Given the description of an element on the screen output the (x, y) to click on. 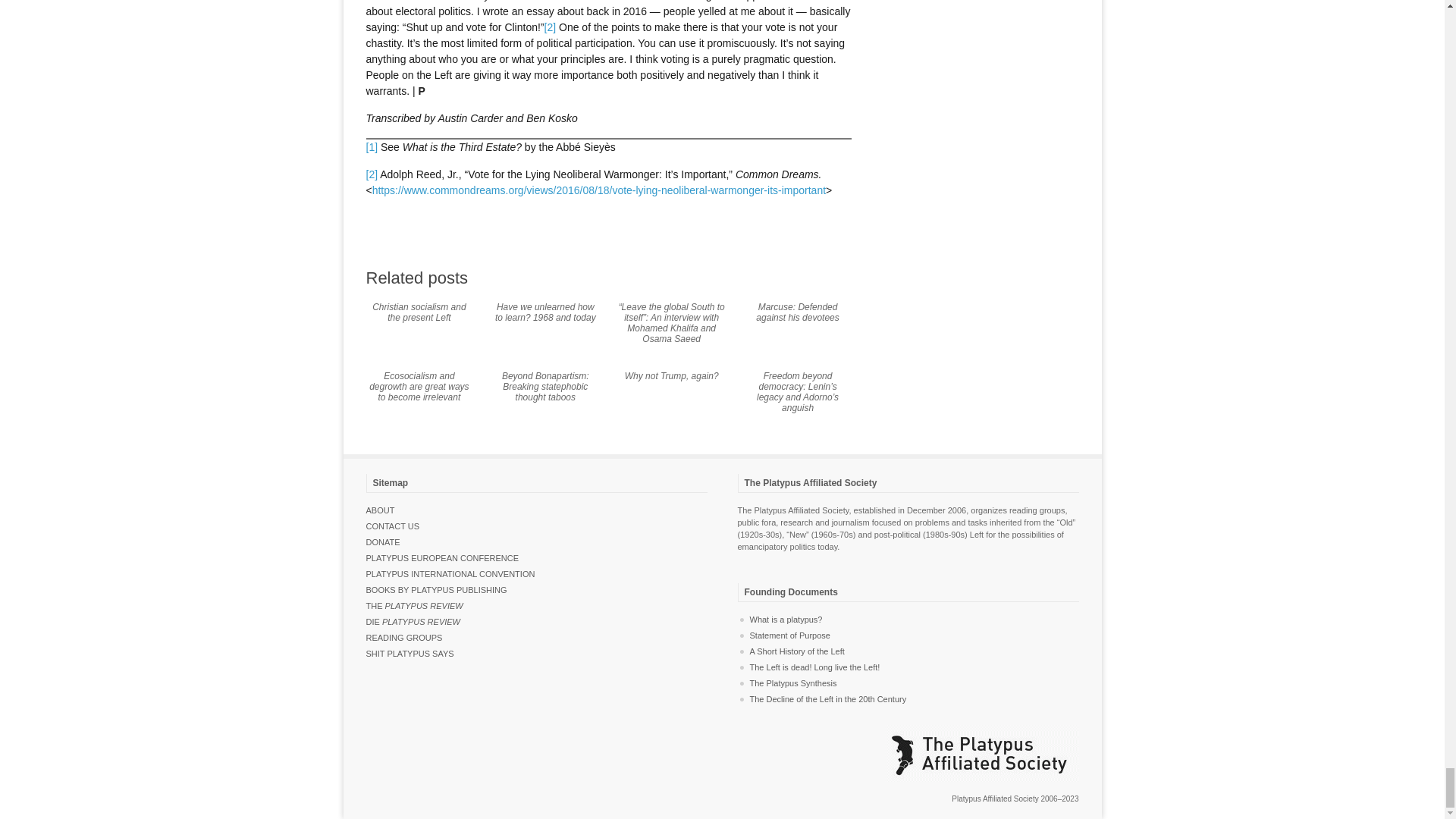
PLATYPUS INTERNATIONAL CONVENTION (449, 573)
Marcuse: Defended against his devotees (796, 312)
BOOKS BY PLATYPUS PUBLISHING (435, 589)
Christian socialism and the present Left (418, 312)
CONTACT US (392, 525)
ABOUT (379, 510)
DONATE (381, 542)
Have we unlearned how to learn? 1968 and today (545, 312)
Why not Trump, again? (671, 376)
